Given the description of an element on the screen output the (x, y) to click on. 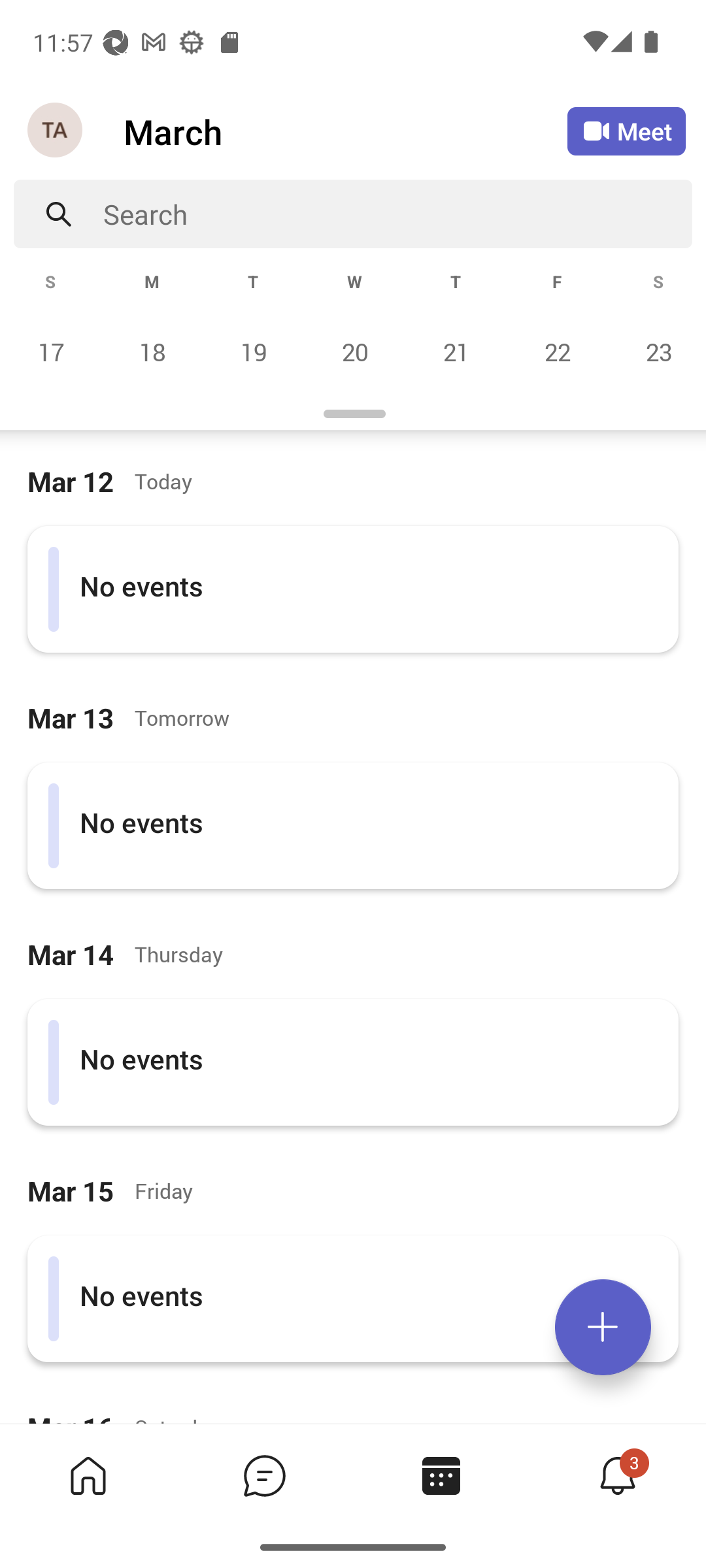
Navigation (56, 130)
Meet Meet now or join with an ID (626, 130)
March March Calendar Agenda View (345, 131)
Search (397, 213)
Sunday, March 17 17 (50, 351)
Monday, March 18 18 (151, 351)
Tuesday, March 19 19 (253, 351)
Wednesday, March 20 20 (354, 351)
Thursday, March 21 21 (455, 351)
Friday, March 22 22 (556, 351)
Saturday, March 23 23 (656, 351)
Expand meetings menu (602, 1327)
Home tab,1 of 4, not selected (88, 1475)
Chat tab,2 of 4, not selected (264, 1475)
Calendar tab, 3 of 4 (441, 1475)
Activity tab,4 of 4, not selected, 3 new 3 (617, 1475)
